Given the description of an element on the screen output the (x, y) to click on. 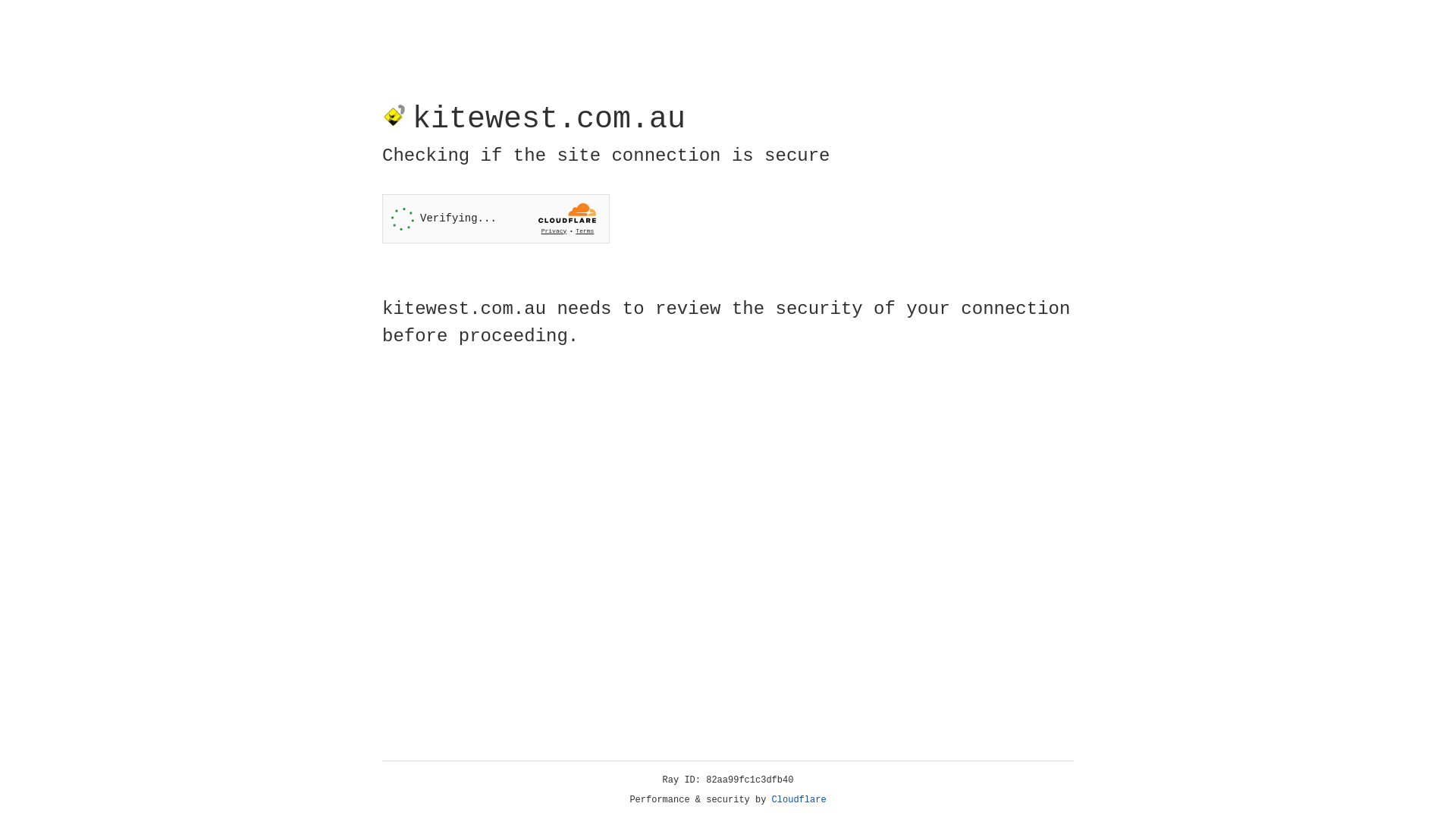
Widget containing a Cloudflare security challenge Element type: hover (495, 218)
Cloudflare Element type: text (798, 799)
